Given the description of an element on the screen output the (x, y) to click on. 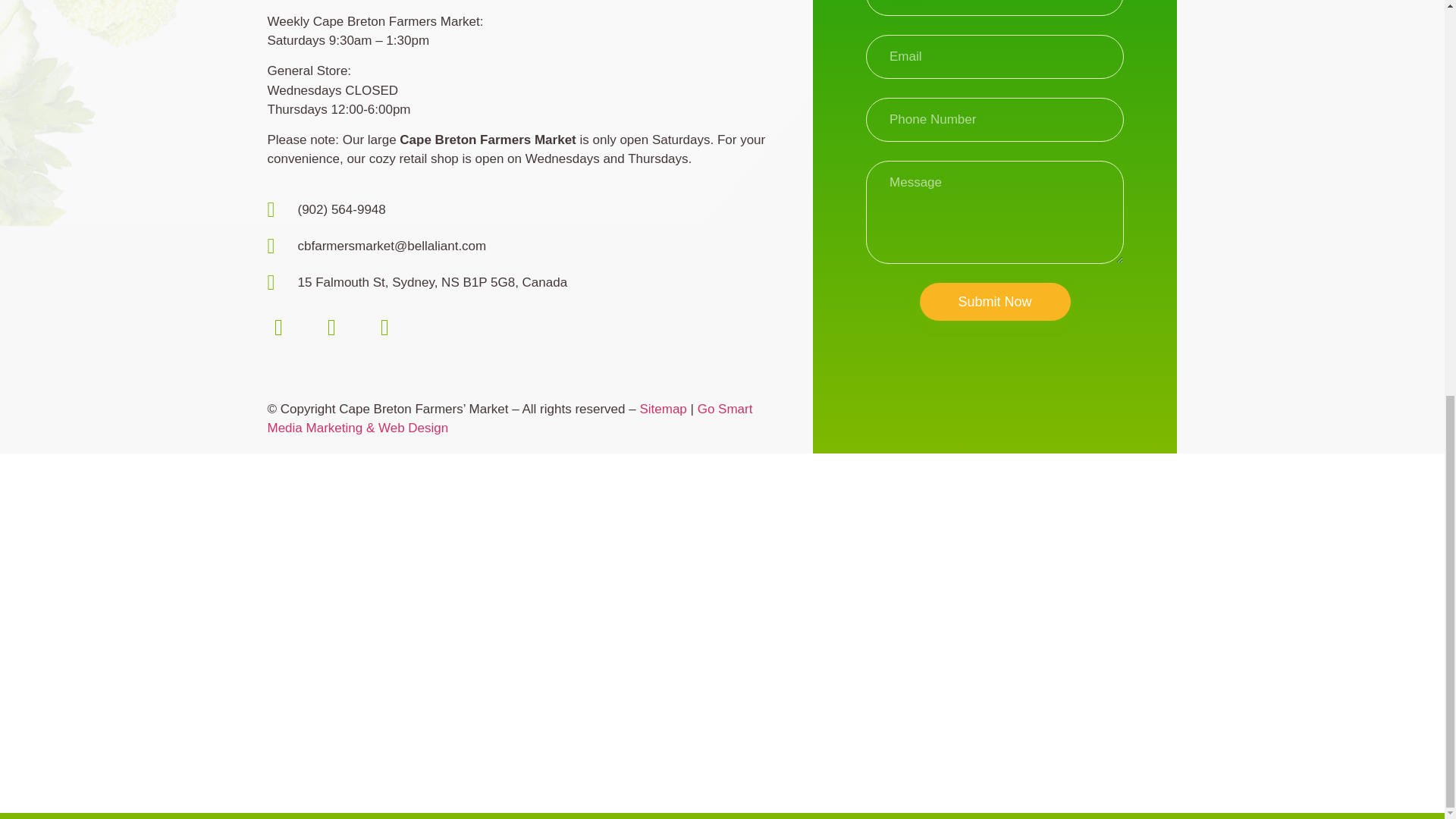
15 Falmouth St, Sydney, NS B1P 5G8, Canada (539, 282)
Sitemap (662, 409)
Submit Now (994, 301)
